Given the description of an element on the screen output the (x, y) to click on. 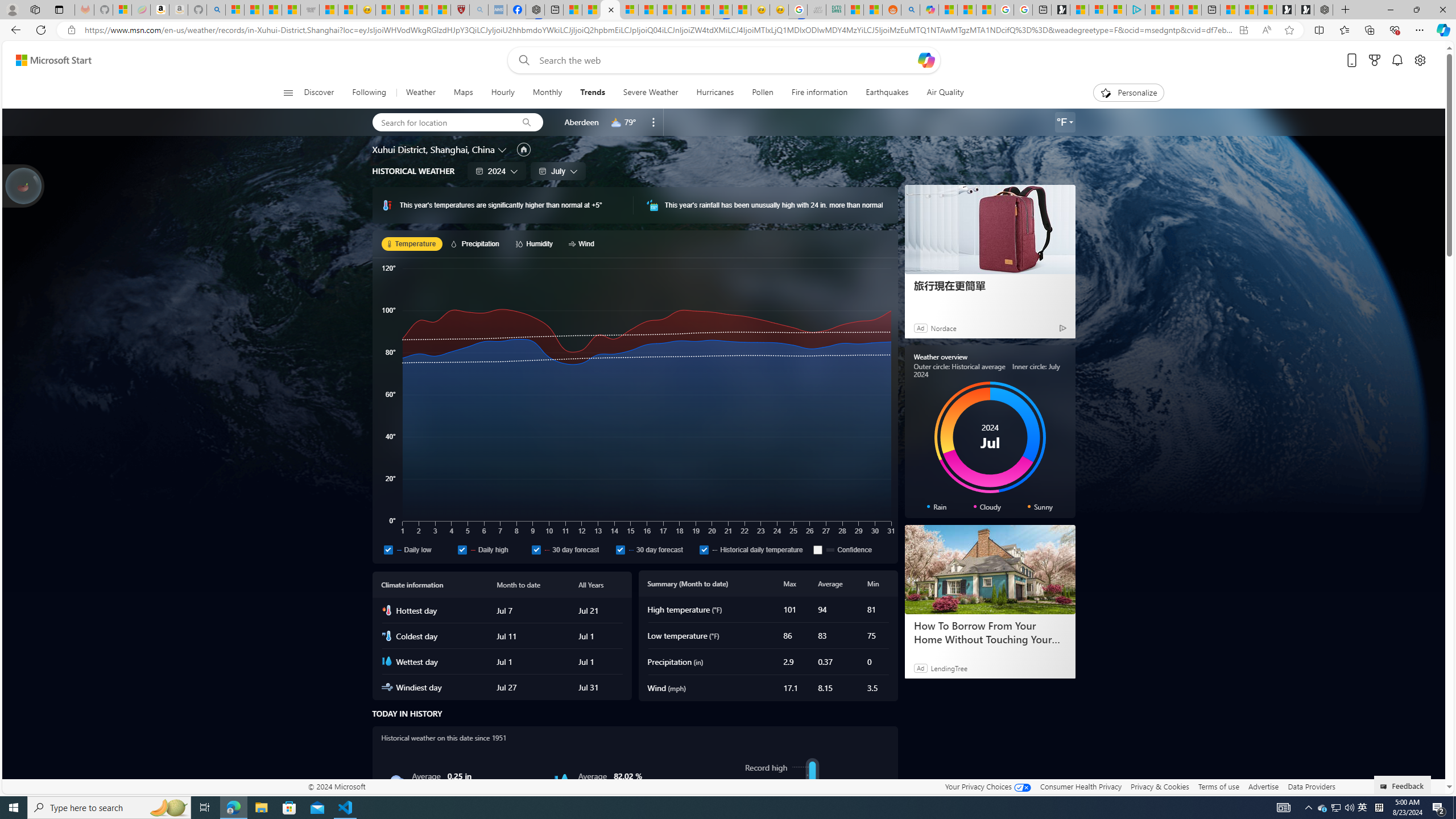
Terms of use (1218, 785)
Precipitation (476, 243)
Recipes - MSN (384, 9)
July (558, 170)
Rain (396, 781)
Data Providers (1311, 786)
